Given the description of an element on the screen output the (x, y) to click on. 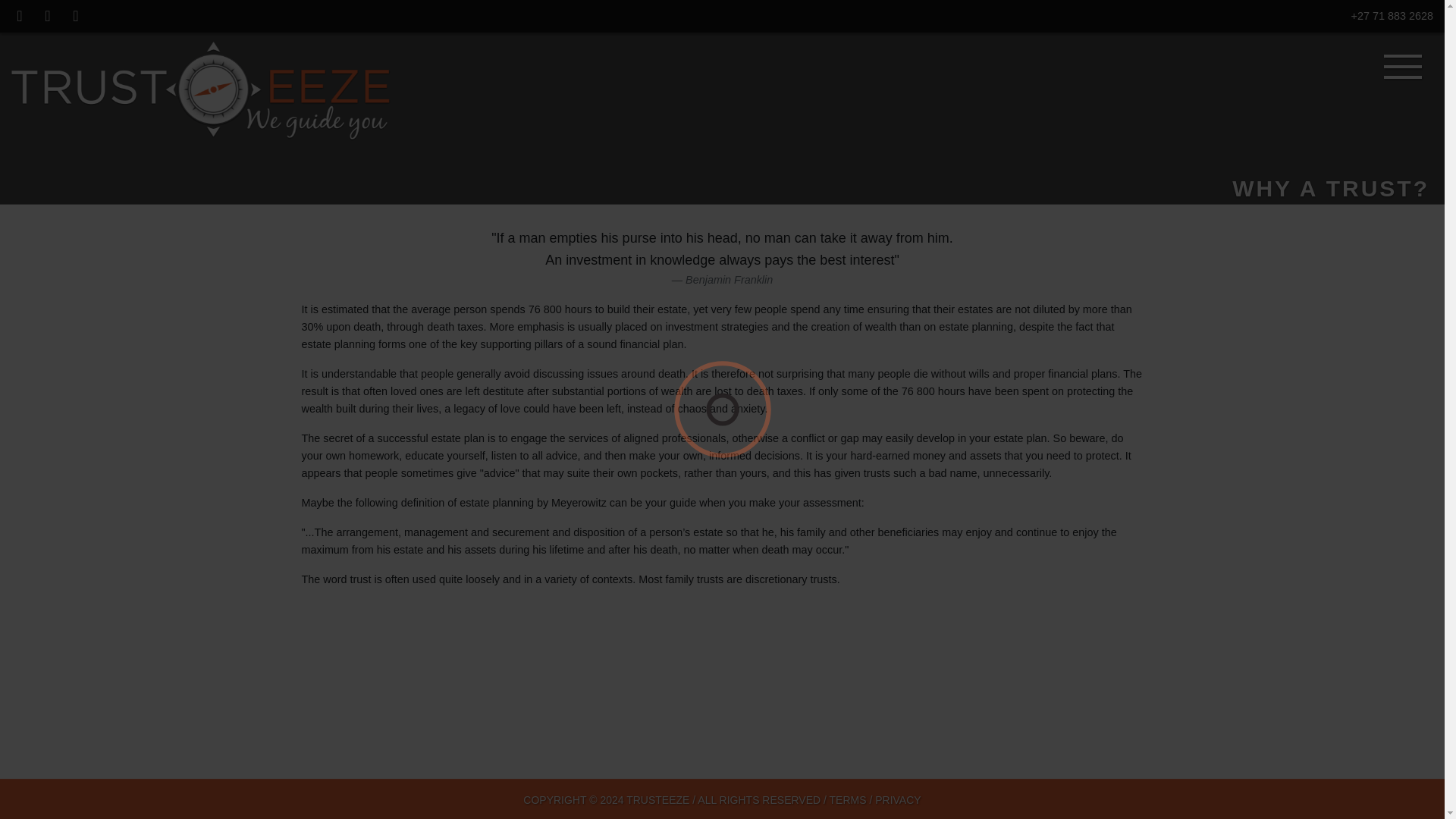
MENU (1402, 67)
Benjamin Franklin (729, 279)
TERMS (847, 799)
PRIVACY (897, 799)
